Given the description of an element on the screen output the (x, y) to click on. 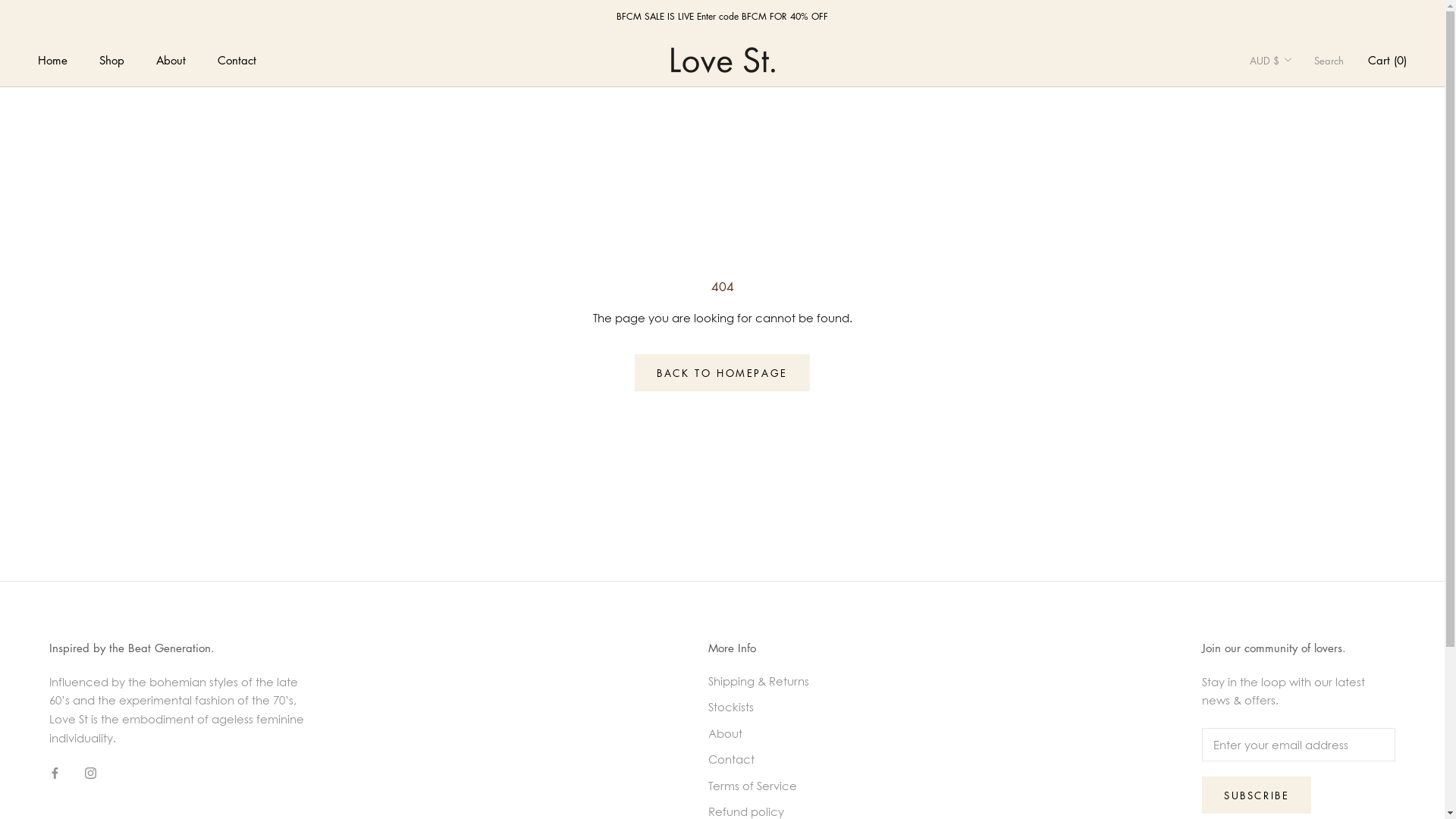
CRC Element type: text (1295, 619)
CDF Element type: text (1295, 547)
BDT Element type: text (1295, 333)
AUD $ Element type: text (1270, 59)
BACK TO HOMEPAGE Element type: text (721, 372)
CNY Element type: text (1295, 595)
Cart (0) Element type: text (1387, 59)
AMD Element type: text (1295, 166)
BND Element type: text (1295, 405)
AUD Element type: text (1295, 213)
EGP Element type: text (1295, 786)
BOB Element type: text (1295, 428)
Home
Home Element type: text (52, 59)
Shipping & Returns Element type: text (758, 681)
Shop Element type: text (111, 59)
CVE Element type: text (1295, 643)
BWP Element type: text (1295, 476)
Contact Element type: text (758, 759)
CZK Element type: text (1295, 667)
About Element type: text (758, 733)
Stockists Element type: text (758, 706)
Contact
Contact Element type: text (236, 59)
ALL Element type: text (1295, 142)
AWG Element type: text (1295, 238)
BIF Element type: text (1295, 380)
BAM Element type: text (1295, 286)
CHF Element type: text (1295, 571)
DJF Element type: text (1295, 690)
ANG Element type: text (1295, 190)
DZD Element type: text (1295, 762)
BGN Element type: text (1295, 357)
About
About Element type: text (170, 59)
BSD Element type: text (1295, 452)
DOP Element type: text (1295, 738)
SUBSCRIBE Element type: text (1256, 794)
DKK Element type: text (1295, 714)
AZN Element type: text (1295, 261)
AFN Element type: text (1295, 118)
Terms of Service Element type: text (758, 785)
BBD Element type: text (1295, 309)
BZD Element type: text (1295, 499)
Search Element type: text (1328, 60)
CAD Element type: text (1295, 524)
AED Element type: text (1295, 94)
